Given the description of an element on the screen output the (x, y) to click on. 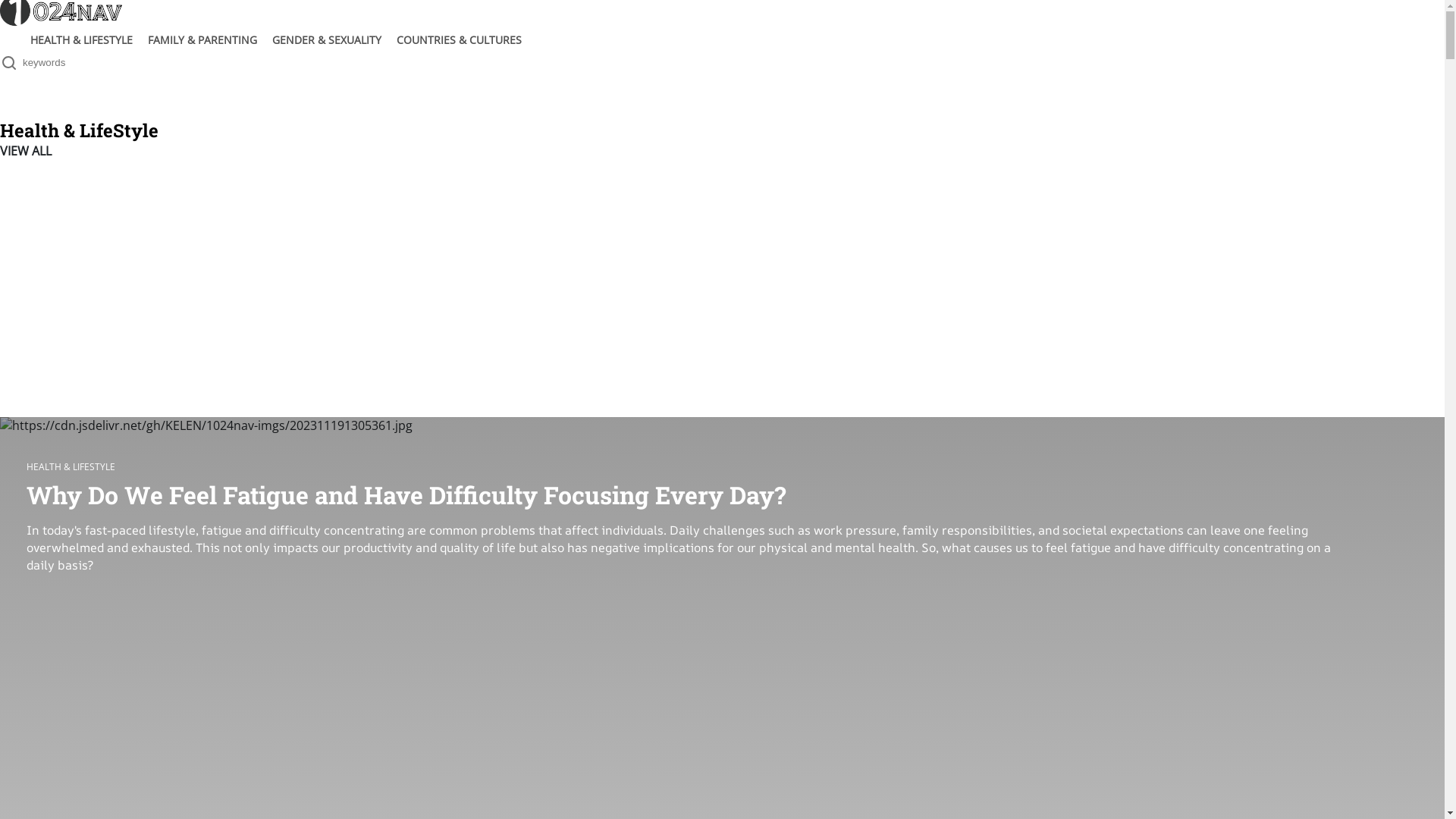
GENDER & SEXUALITY Element type: text (326, 39)
FAMILY & PARENTING Element type: text (202, 39)
Advertisement Element type: hover (721, 288)
HEALTH & LIFESTYLE Element type: text (81, 39)
VIEW ALL Element type: text (25, 150)
COUNTRIES & CULTURES Element type: text (458, 39)
